Given the description of an element on the screen output the (x, y) to click on. 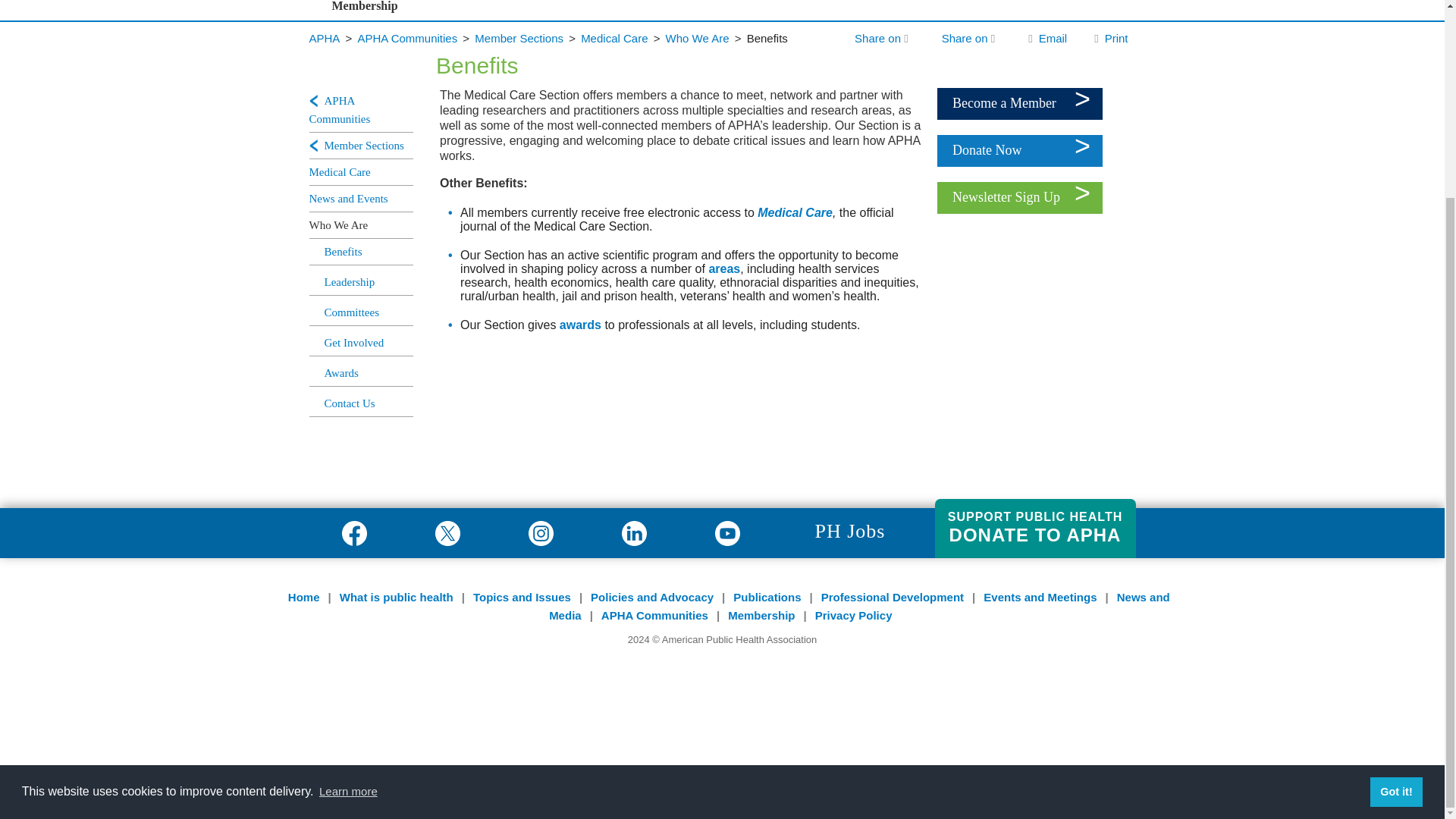
Racial Equity (494, 20)
Advocacy for Public Health (572, 4)
Public Health Thank You Day (389, 20)
Learn more (348, 540)
Climate, Health and Equity (494, 4)
Vaccines (494, 145)
The Nation's Health (658, 20)
Health Equity (494, 120)
COVID-19 (494, 45)
Gun Violence (494, 95)
American Journal of Public Health (658, 4)
Environmental Health (494, 70)
Fact Sheets (658, 70)
Got it! (1396, 540)
Who is public health? (389, 45)
